Given the description of an element on the screen output the (x, y) to click on. 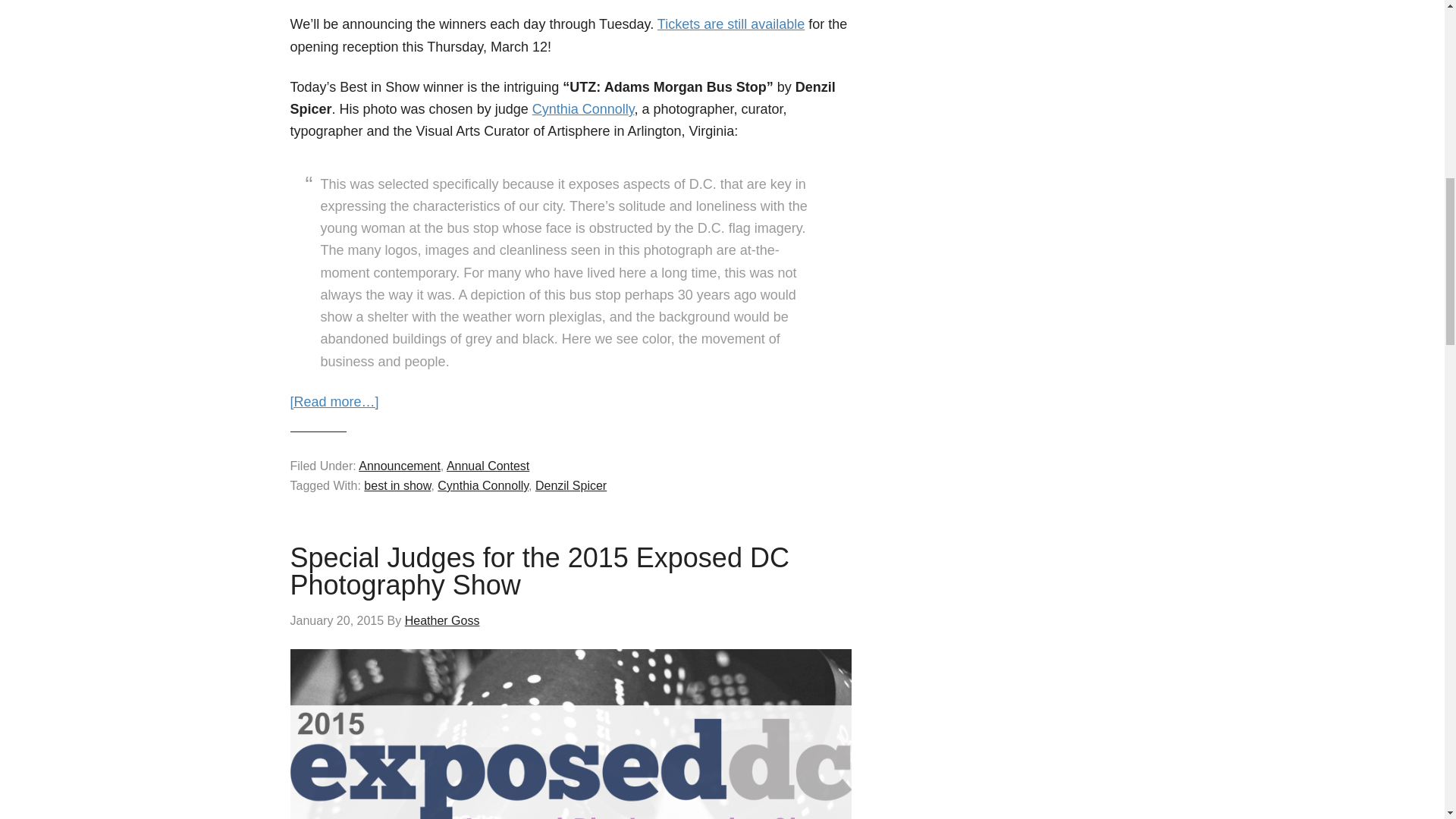
Tickets are still available (731, 23)
best in show (397, 485)
Denzil Spicer (571, 485)
Cynthia Connolly (583, 109)
Cynthia Connolly (483, 485)
Announcement (399, 465)
Annual Contest (487, 465)
Special Judges for the 2015 Exposed DC Photography Show (539, 571)
Heather Goss (442, 620)
